Given the description of an element on the screen output the (x, y) to click on. 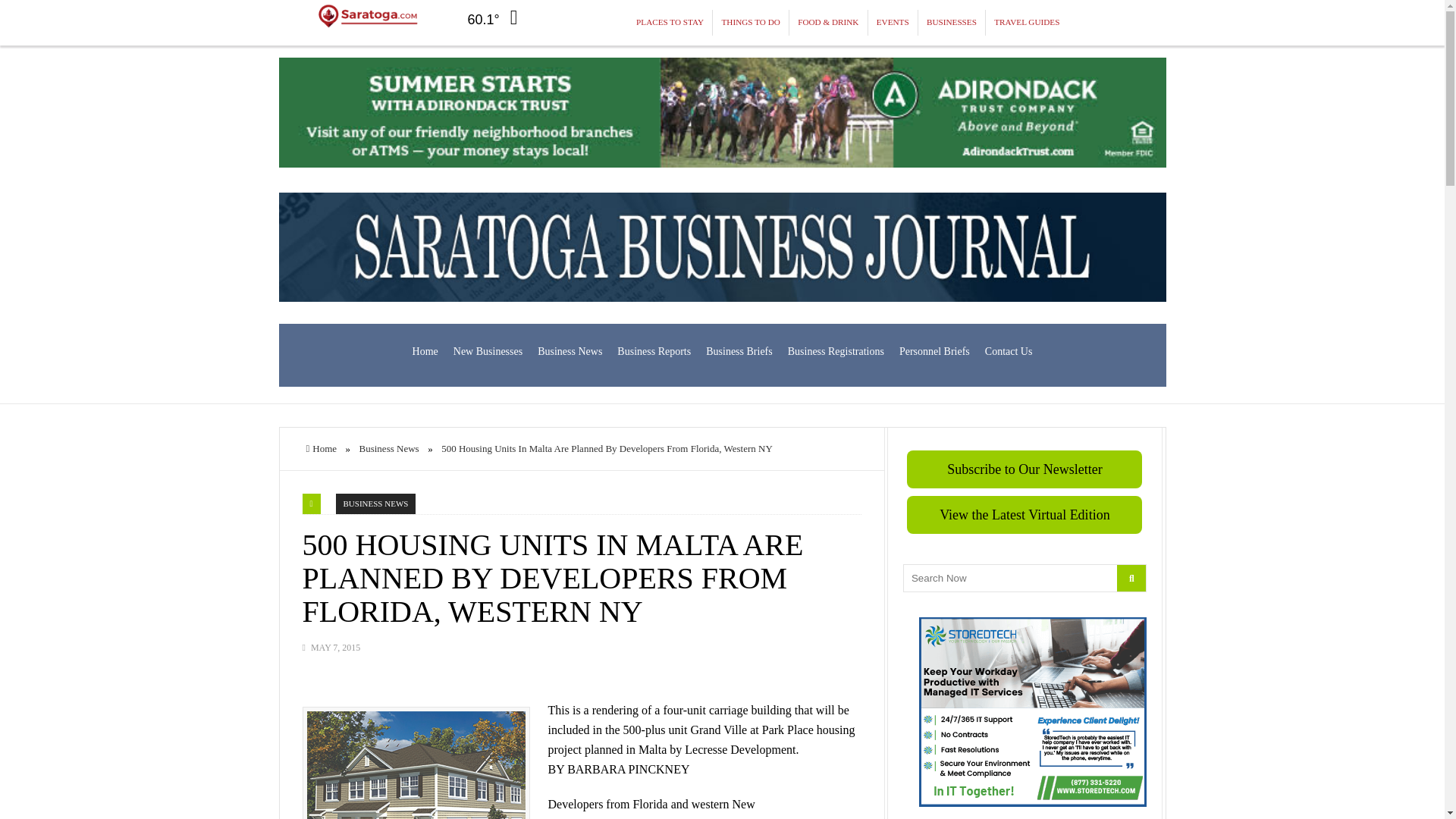
Business News (569, 351)
Home (424, 351)
Business Registrations (835, 351)
Personnel Briefs (933, 351)
TRAVEL GUIDES (1026, 22)
View all posts in Business News (376, 503)
THINGS TO DO (751, 22)
BUSINESSES (951, 22)
Subscribe to Our Newsletter (1024, 469)
Contact Us (1008, 351)
Business Briefs (739, 351)
Weather Forecast (493, 17)
View the Latest Virtual Edition (1024, 514)
PLACES TO STAY (670, 22)
EVENTS (892, 22)
